Given the description of an element on the screen output the (x, y) to click on. 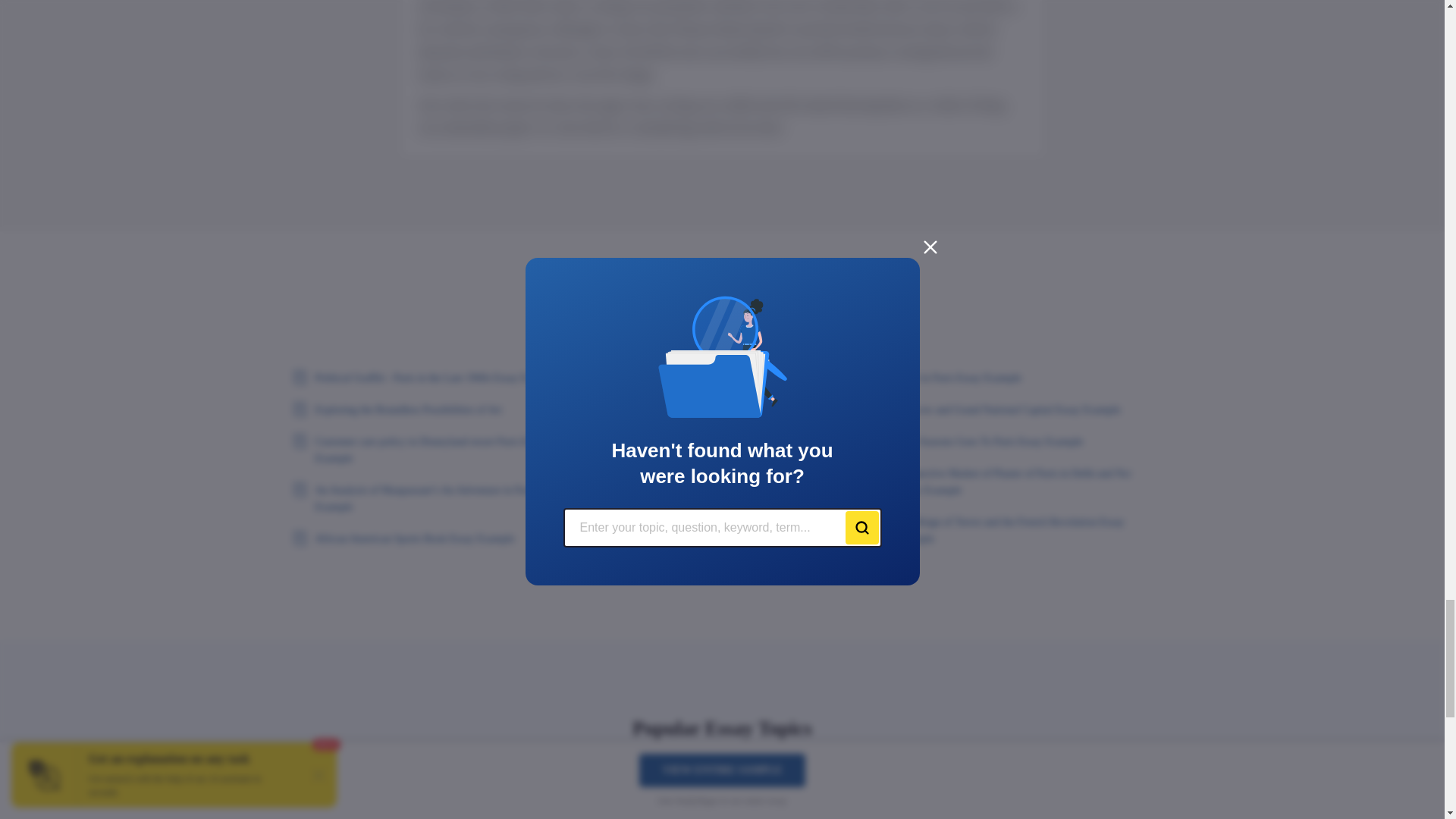
Athens essays (328, 789)
African American Sports Book Essay Example (431, 538)
The Reign of Terror and the French Revolution Essay Example (1012, 530)
Rizal in Paris Essay Example (1012, 378)
Four Seasons Goes To Paris Analysis Essay Example (722, 555)
Exploring the Boundless Possibilities of Art (431, 410)
My Vacation to Paris Essay Example (722, 523)
Moscow and Grand National Capital Essay Example (1012, 410)
Political Graffiti - Paris in the Late 1960s Essay Example (431, 378)
Four Seasons Goes To Paris Essay Example (1012, 442)
England essays (505, 789)
